Given the description of an element on the screen output the (x, y) to click on. 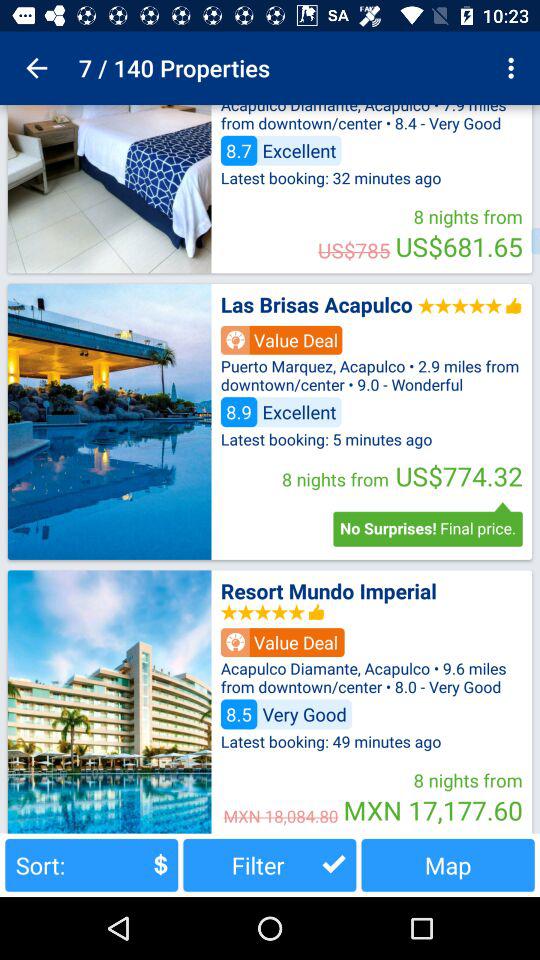
select the item below mxn 17 177 item (447, 864)
